Given the description of an element on the screen output the (x, y) to click on. 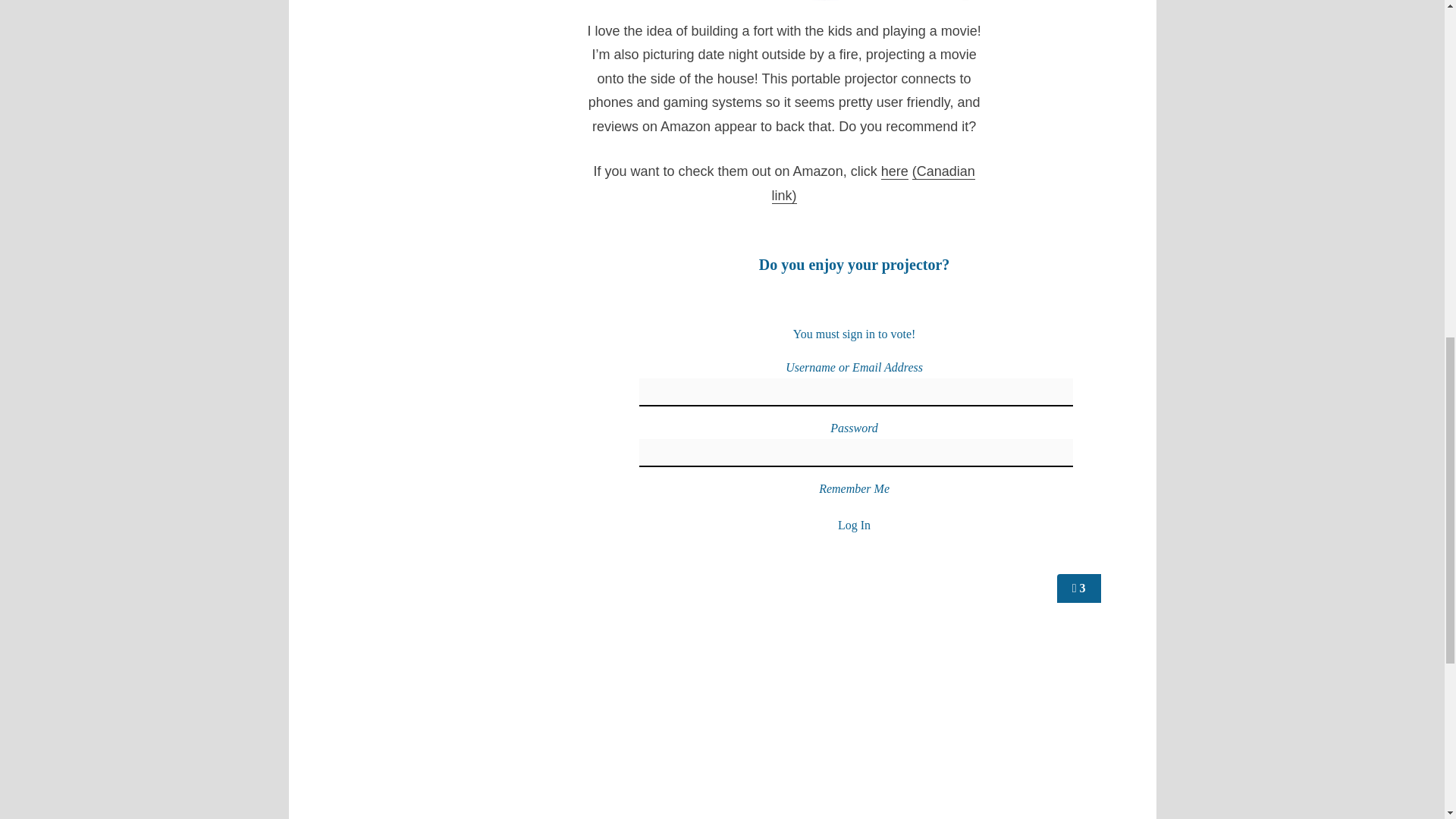
here (894, 171)
Log In (854, 524)
